Given the description of an element on the screen output the (x, y) to click on. 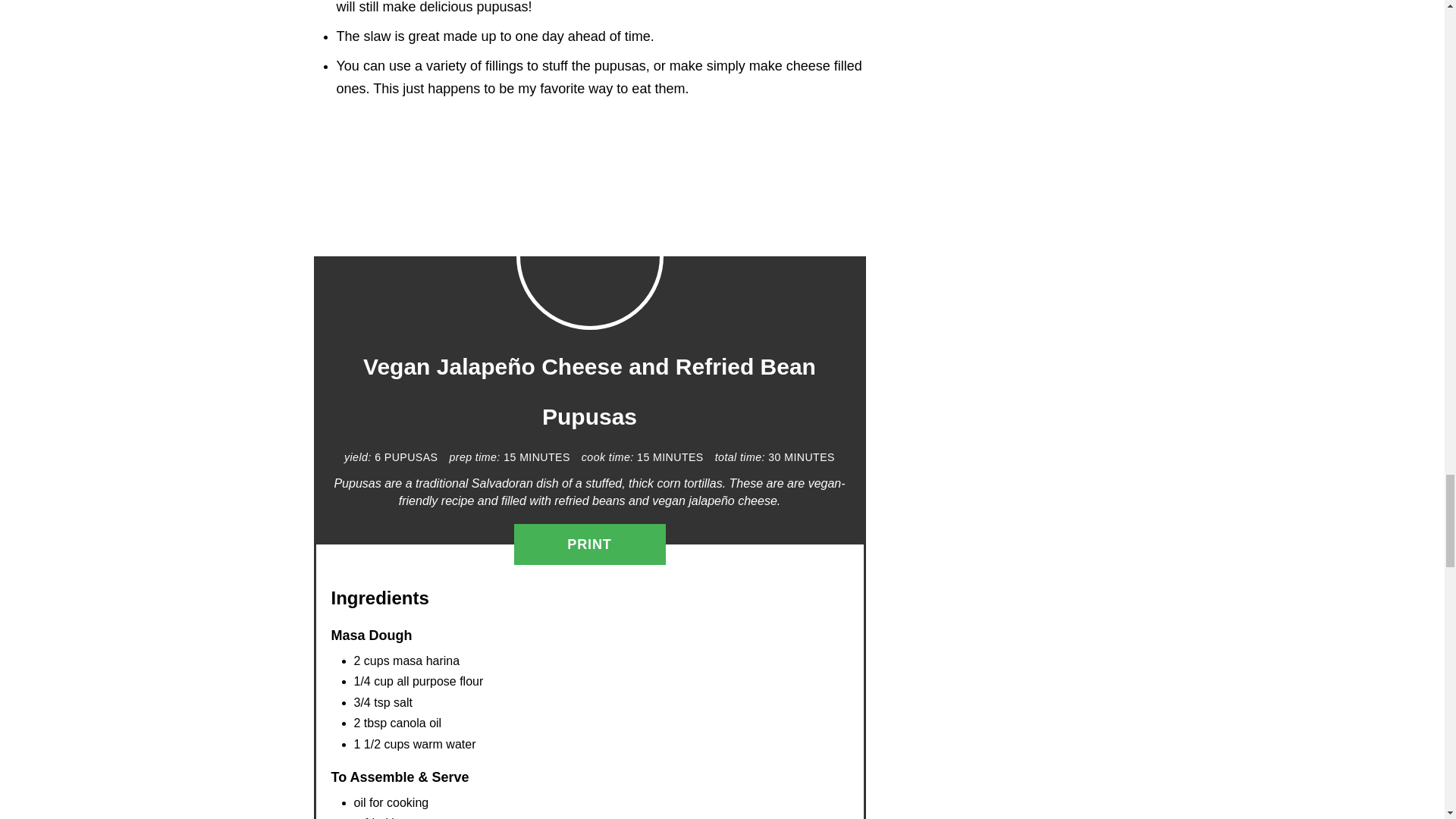
PRINT (589, 544)
